Given the description of an element on the screen output the (x, y) to click on. 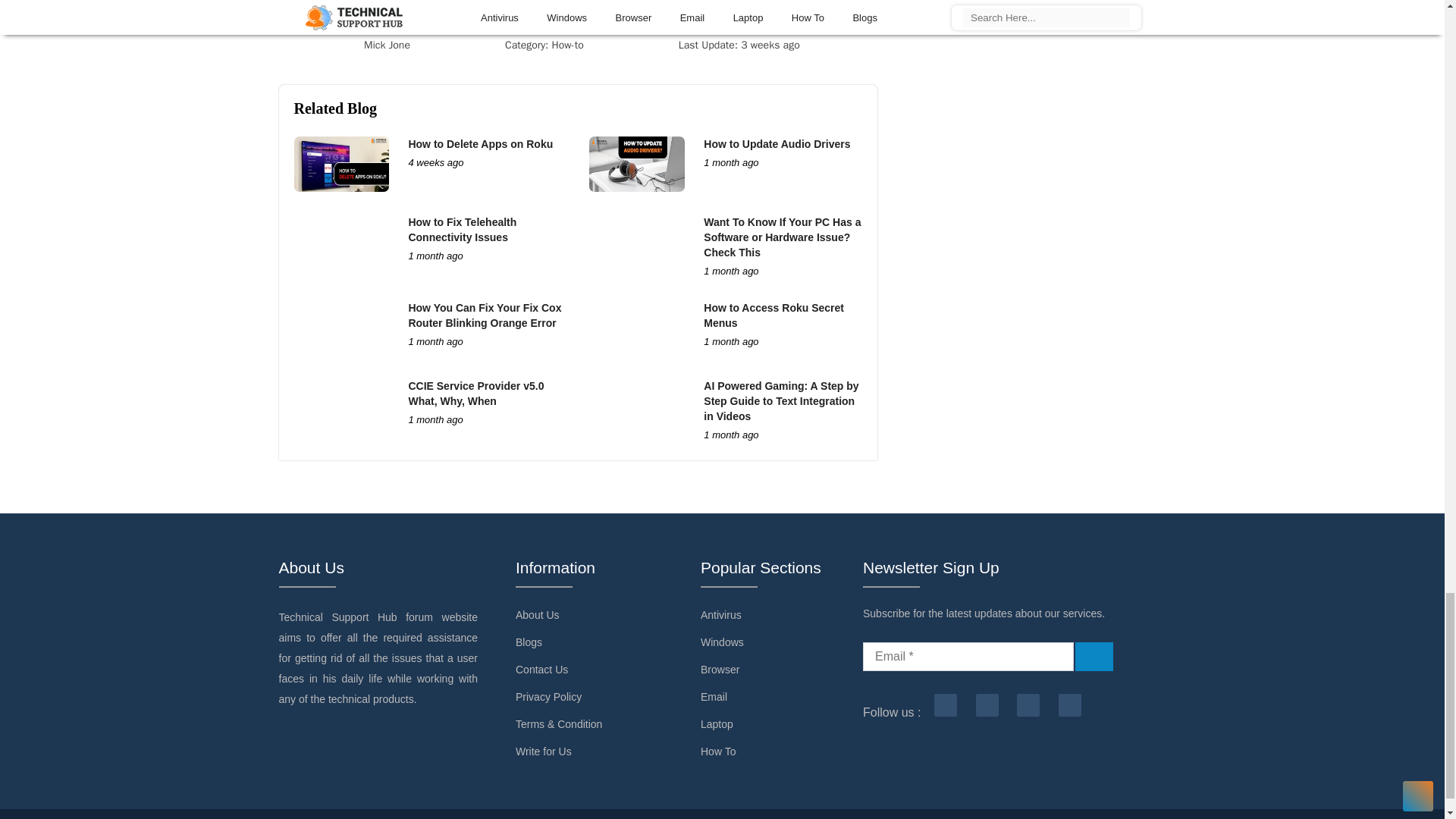
How You Can Fix Your Fix Cox Router Blinking Orange Error (483, 315)
How to Access Roku Secret Menus (773, 315)
How to Delete Apps on Roku (480, 143)
CCIE Service Provider v5.0 What, Why, When (475, 393)
How to Update Audio Drivers (776, 143)
How to Fix Telehealth Connectivity Issues (461, 229)
